Given the description of an element on the screen output the (x, y) to click on. 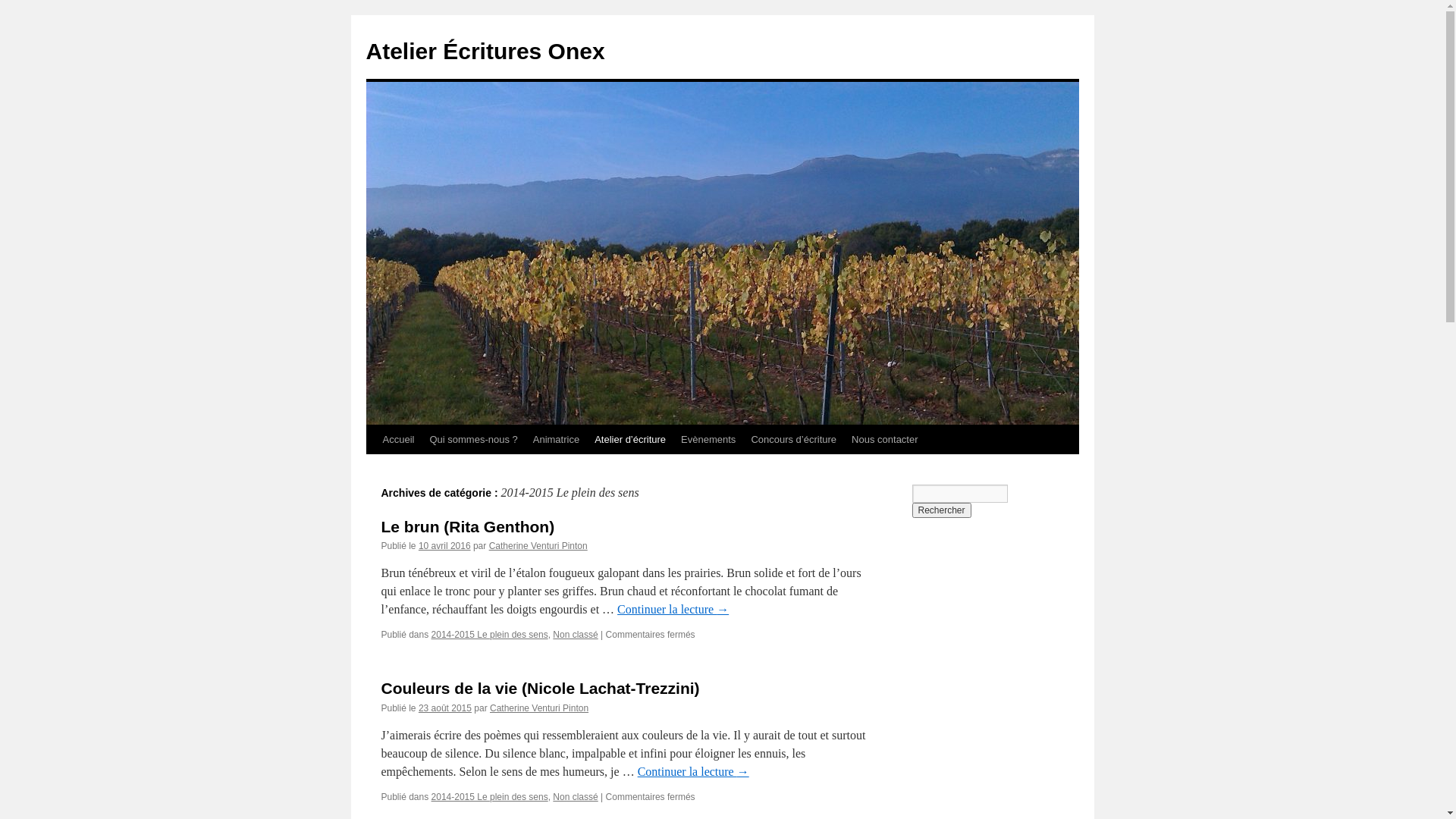
Animatrice Element type: text (555, 439)
Catherine Venturi Pinton Element type: text (538, 545)
10 avril 2016 Element type: text (444, 545)
Aller au contenu Element type: text (372, 468)
Nous contacter Element type: text (884, 439)
2014-2015 Le plein des sens Element type: text (489, 634)
2014-2015 Le plein des sens Element type: text (489, 796)
Couleurs de la vie (Nicole Lachat-Trezzini) Element type: text (539, 687)
Accueil Element type: text (397, 439)
Catherine Venturi Pinton Element type: text (538, 707)
Le brun (Rita Genthon) Element type: text (467, 526)
Qui sommes-nous ? Element type: text (472, 439)
Rechercher Element type: text (940, 509)
